Given the description of an element on the screen output the (x, y) to click on. 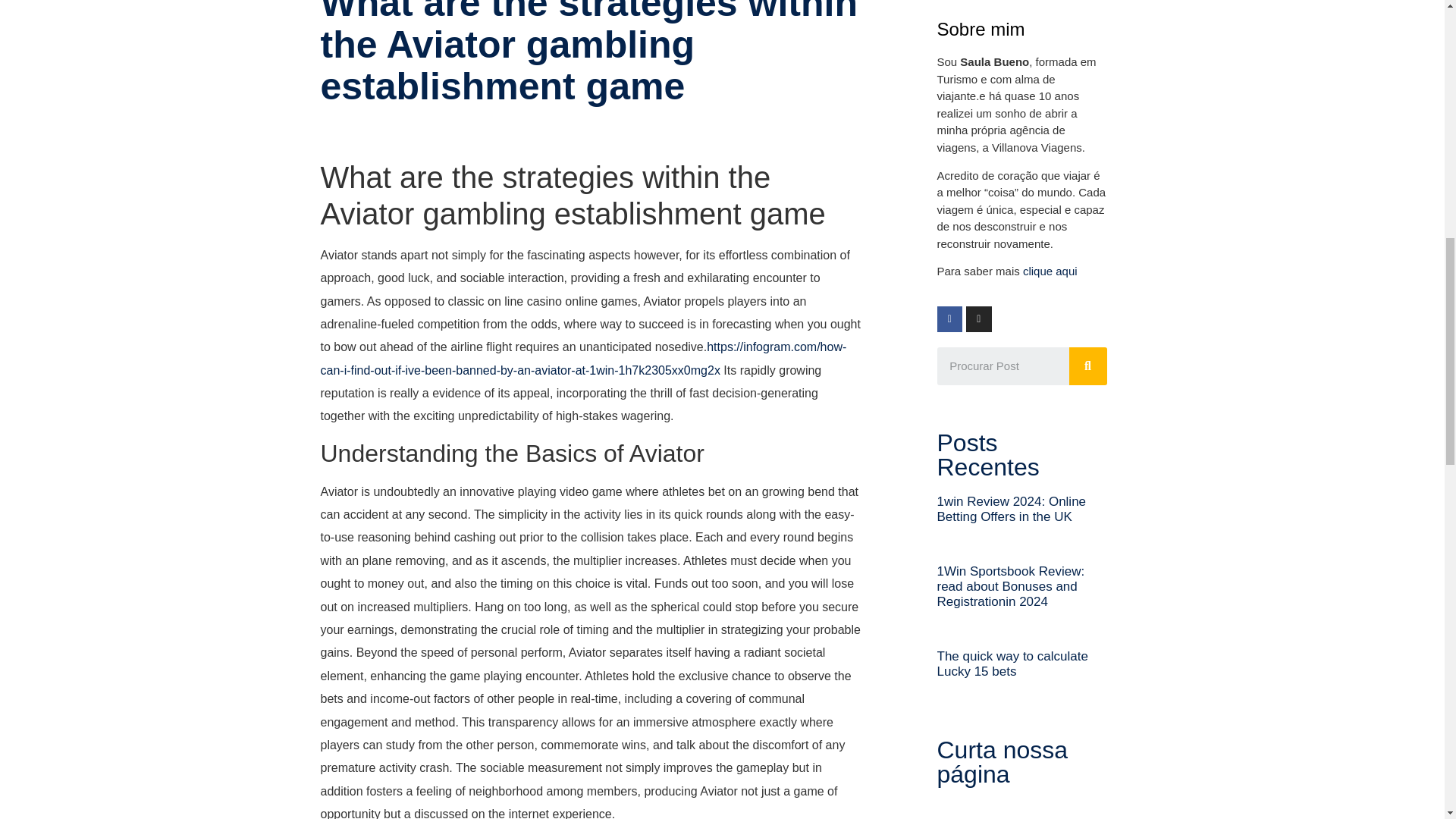
Search (1087, 365)
The quick way to calculate Lucky 15 bets (1012, 663)
1win Review 2024: Online Betting Offers in the UK (1011, 509)
Search (1002, 365)
clique aqui (1050, 270)
